Given the description of an element on the screen output the (x, y) to click on. 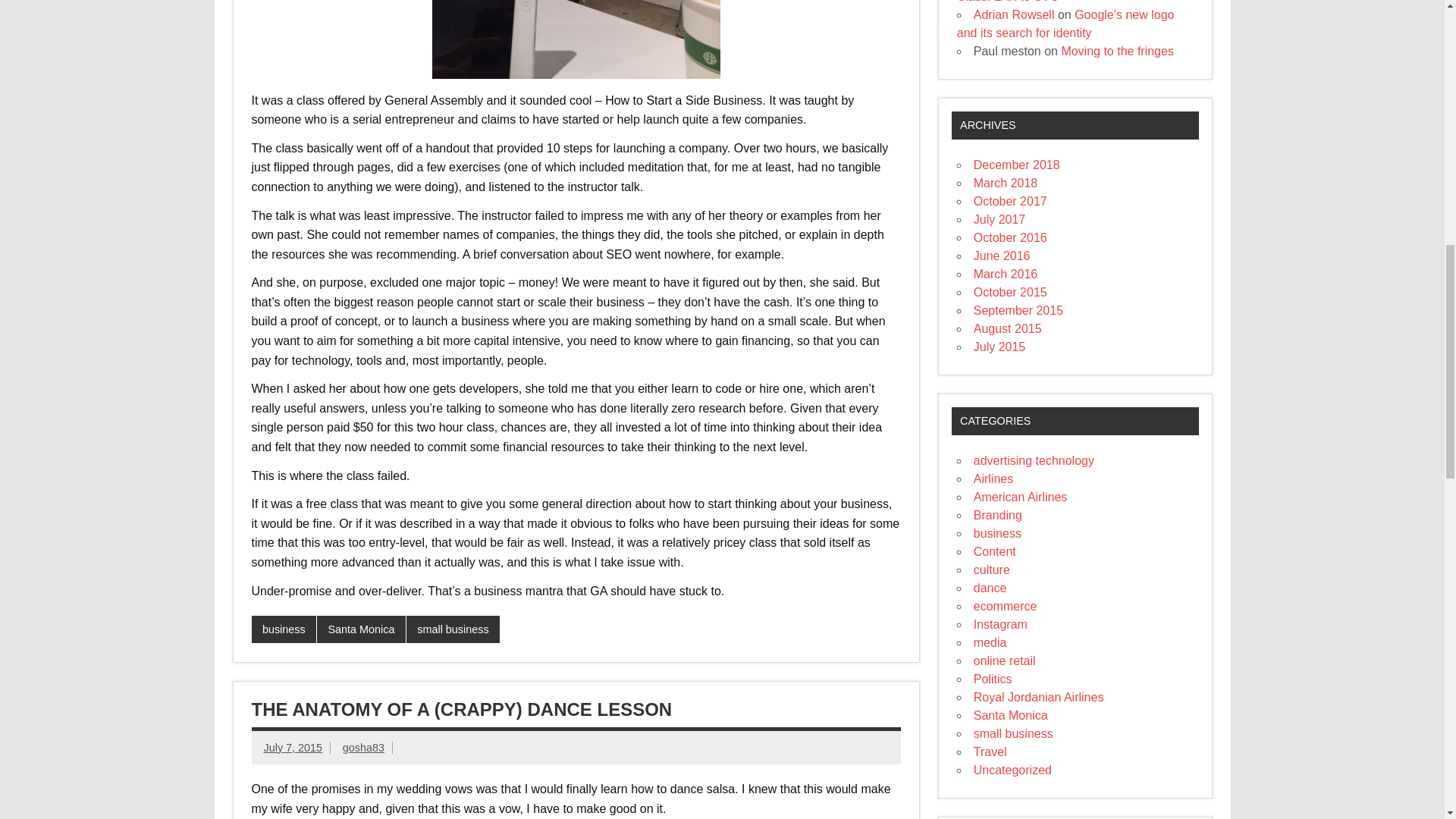
gosha83 (363, 747)
Adrian Rowsell (1014, 14)
small business (452, 628)
June 2016 (1002, 255)
October 2017 (1010, 201)
Moving to the fringes (1117, 51)
December 2018 (1016, 164)
View all posts by gosha83 (363, 747)
March 2018 (1006, 182)
business (284, 628)
